Given the description of an element on the screen output the (x, y) to click on. 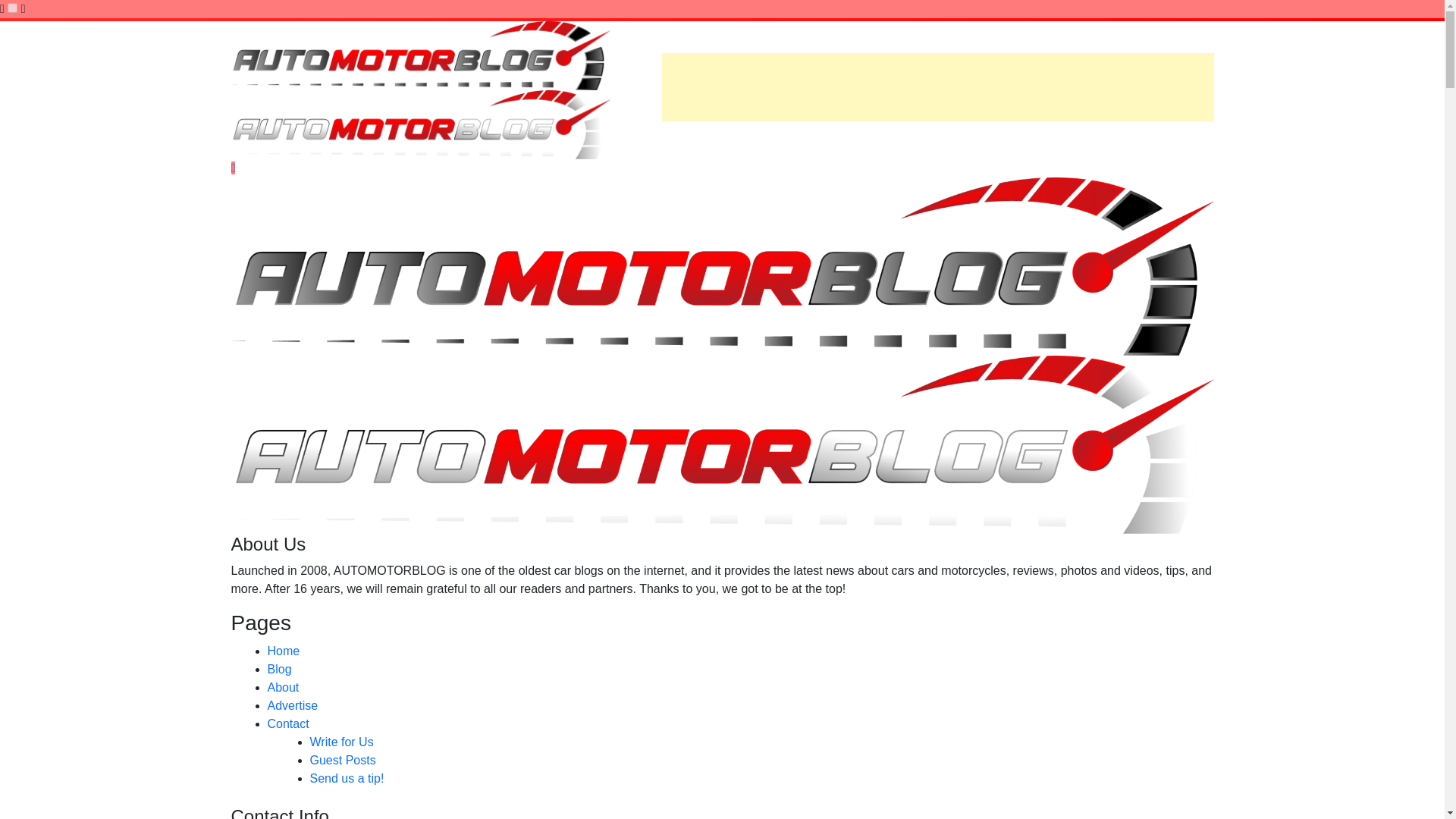
Guest Posts (341, 759)
Blog (278, 668)
Contact (287, 723)
Home (282, 650)
Advertise (291, 705)
Send us a tip! (346, 778)
About (282, 686)
on (12, 8)
Write for Us (340, 741)
